Given the description of an element on the screen output the (x, y) to click on. 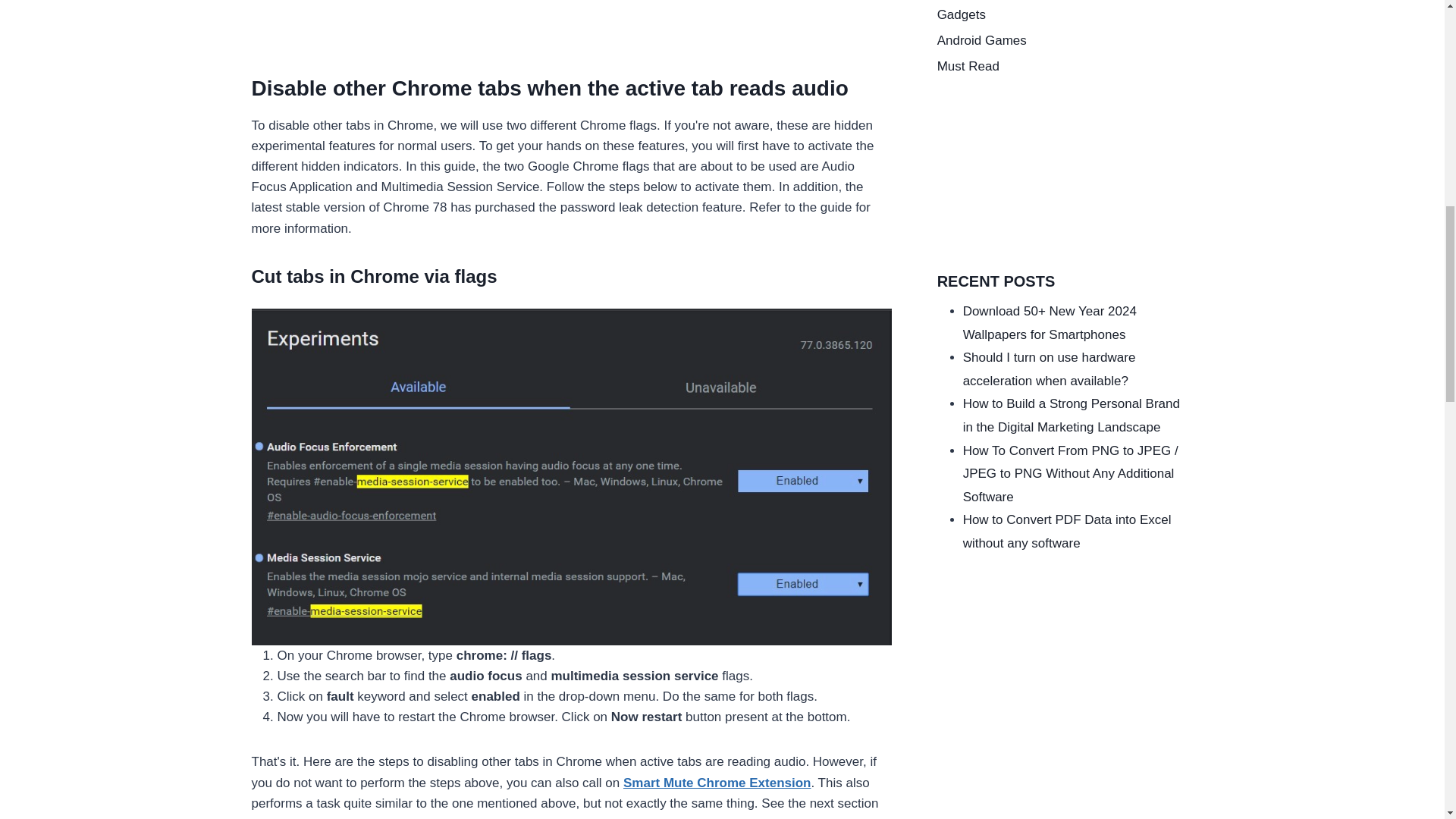
Smart Mute Chrome Extension (716, 782)
